Given the description of an element on the screen output the (x, y) to click on. 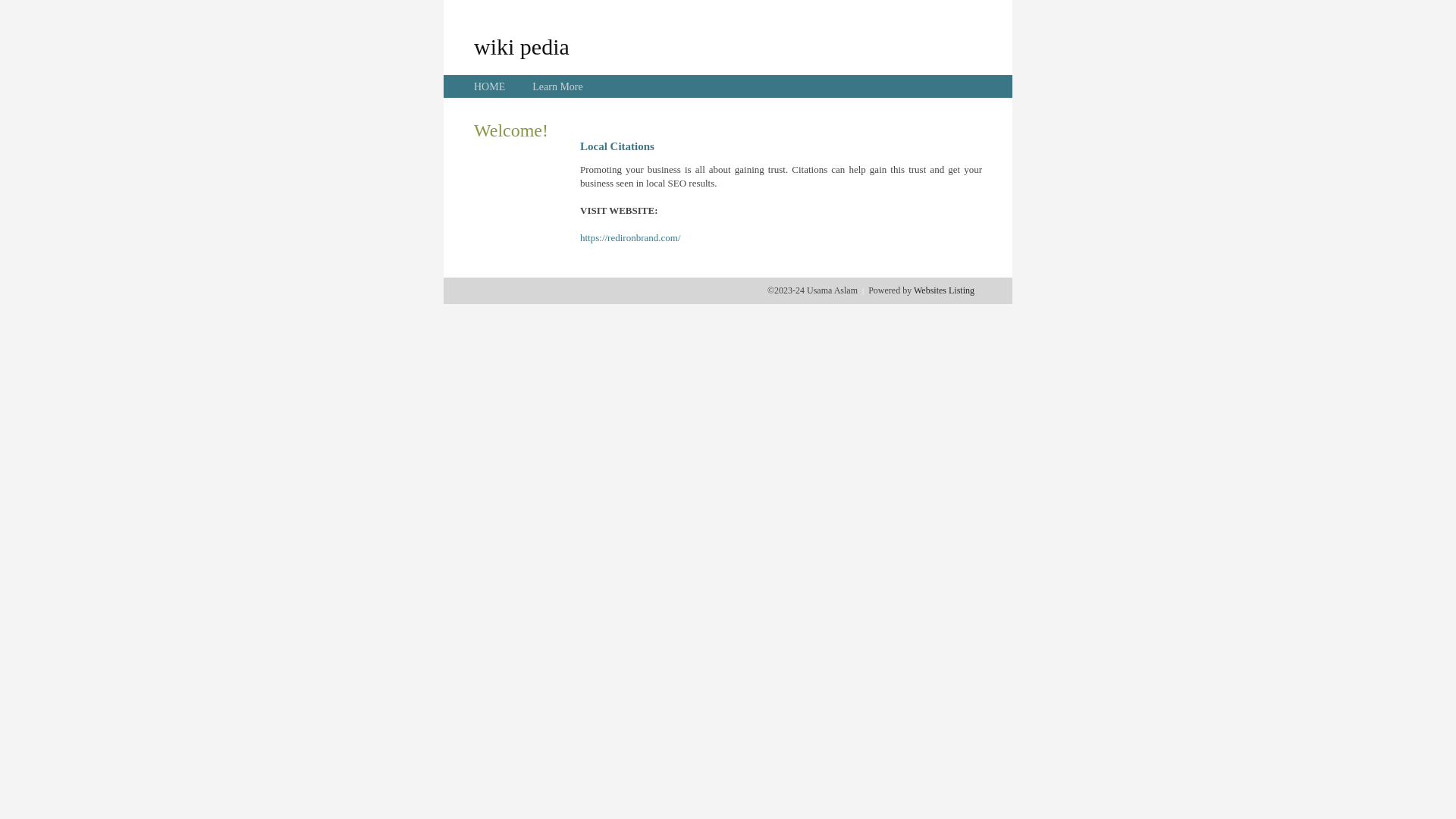
Websites Listing Element type: text (943, 290)
Learn More Element type: text (557, 86)
wiki pedia Element type: text (521, 46)
https://redironbrand.com/ Element type: text (630, 237)
HOME Element type: text (489, 86)
